Given the description of an element on the screen output the (x, y) to click on. 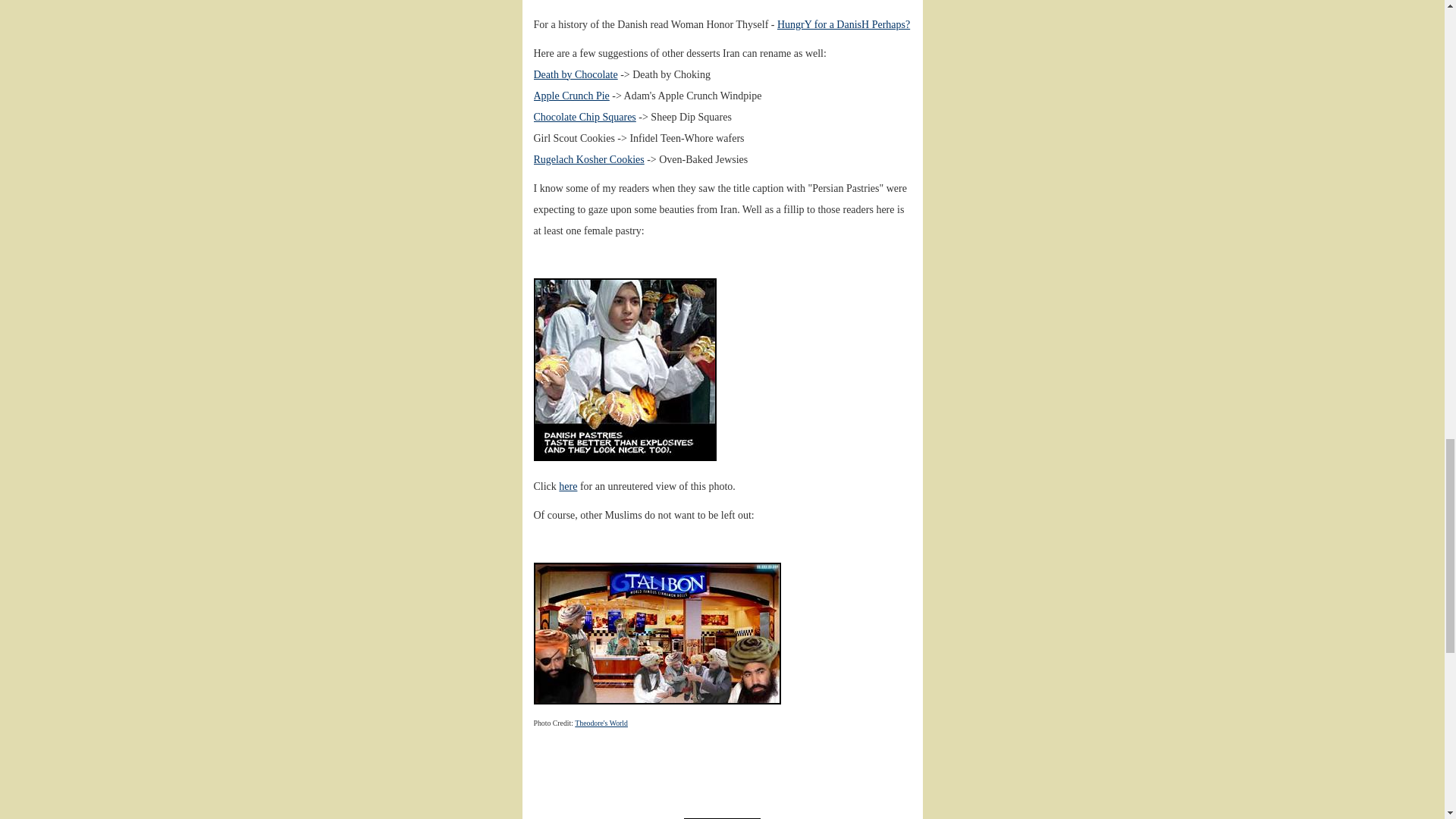
Theodore's World (601, 723)
HungrY for a DanisH Perhaps? (843, 24)
Death by Chocolate (575, 74)
Chocolate Chip Squares (585, 116)
here (567, 486)
Apple Crunch Pie (572, 95)
Rugelach Kosher Cookies (589, 159)
